Given the description of an element on the screen output the (x, y) to click on. 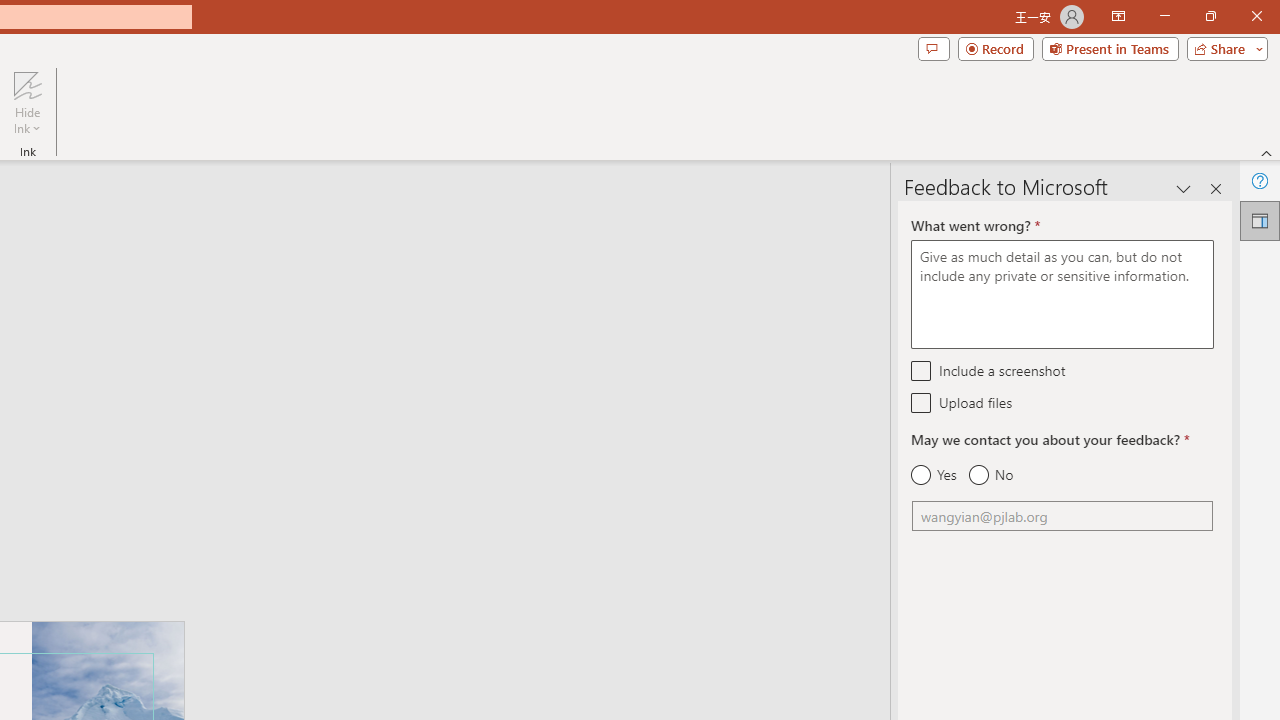
More Options (27, 121)
Task Pane Options (1183, 188)
Ribbon Display Options (1118, 16)
Include a screenshot (921, 370)
Present in Teams (1109, 48)
Share (1223, 48)
Close (1256, 16)
Collapse the Ribbon (1267, 152)
Yes (934, 475)
Upload files (921, 402)
What went wrong? * (1062, 294)
Hide Ink (27, 102)
No (990, 475)
Record (995, 48)
